Given the description of an element on the screen output the (x, y) to click on. 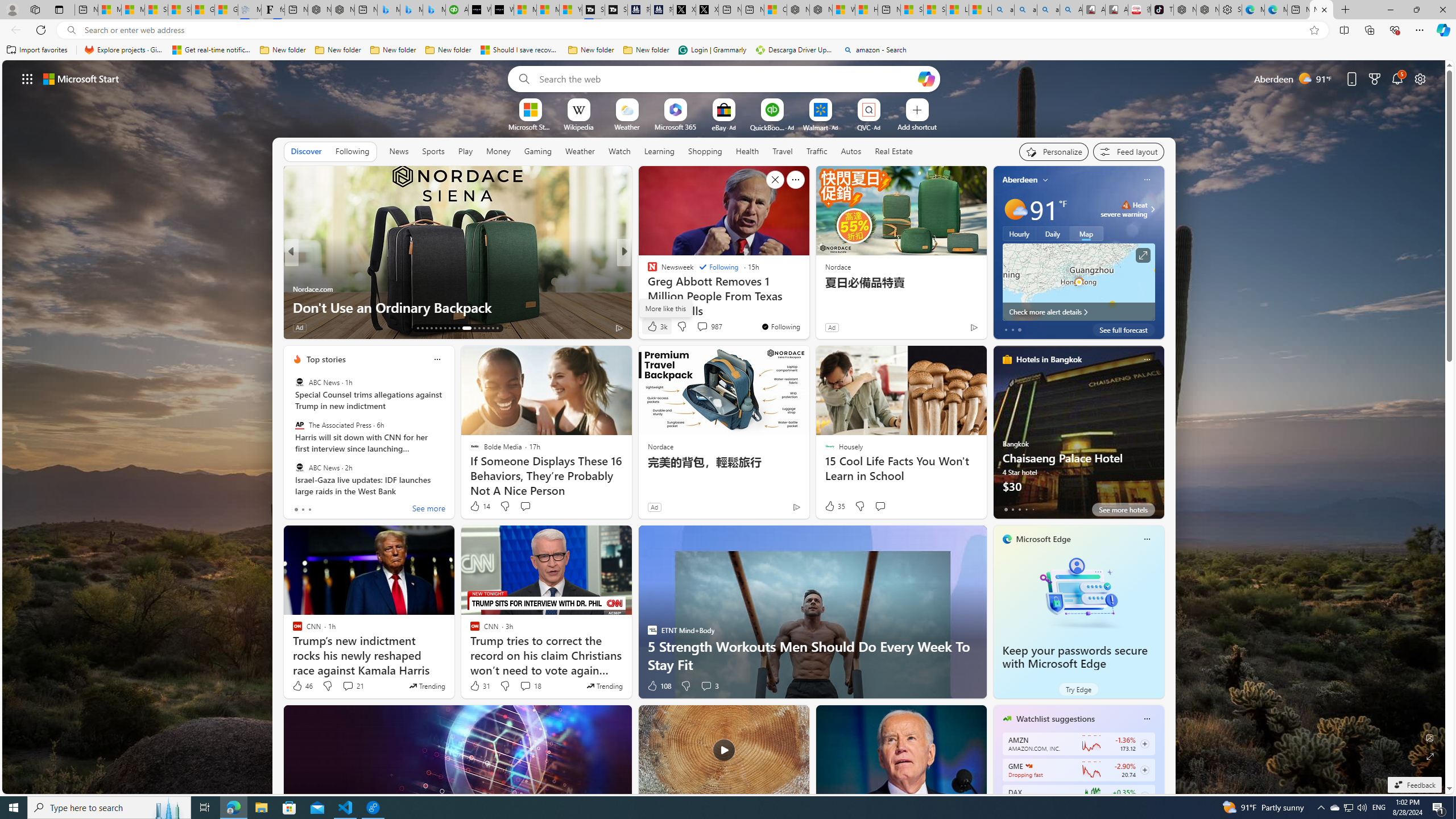
The Independent (647, 270)
View comments 2 Comment (702, 327)
79 Like (652, 327)
You're following FOX News (949, 329)
Travel (782, 151)
AutomationID: tab-23 (463, 328)
Dislike (685, 685)
tab-4 (1032, 509)
Health (746, 151)
Chaisaeng Palace Hotel (1078, 436)
